Given the description of an element on the screen output the (x, y) to click on. 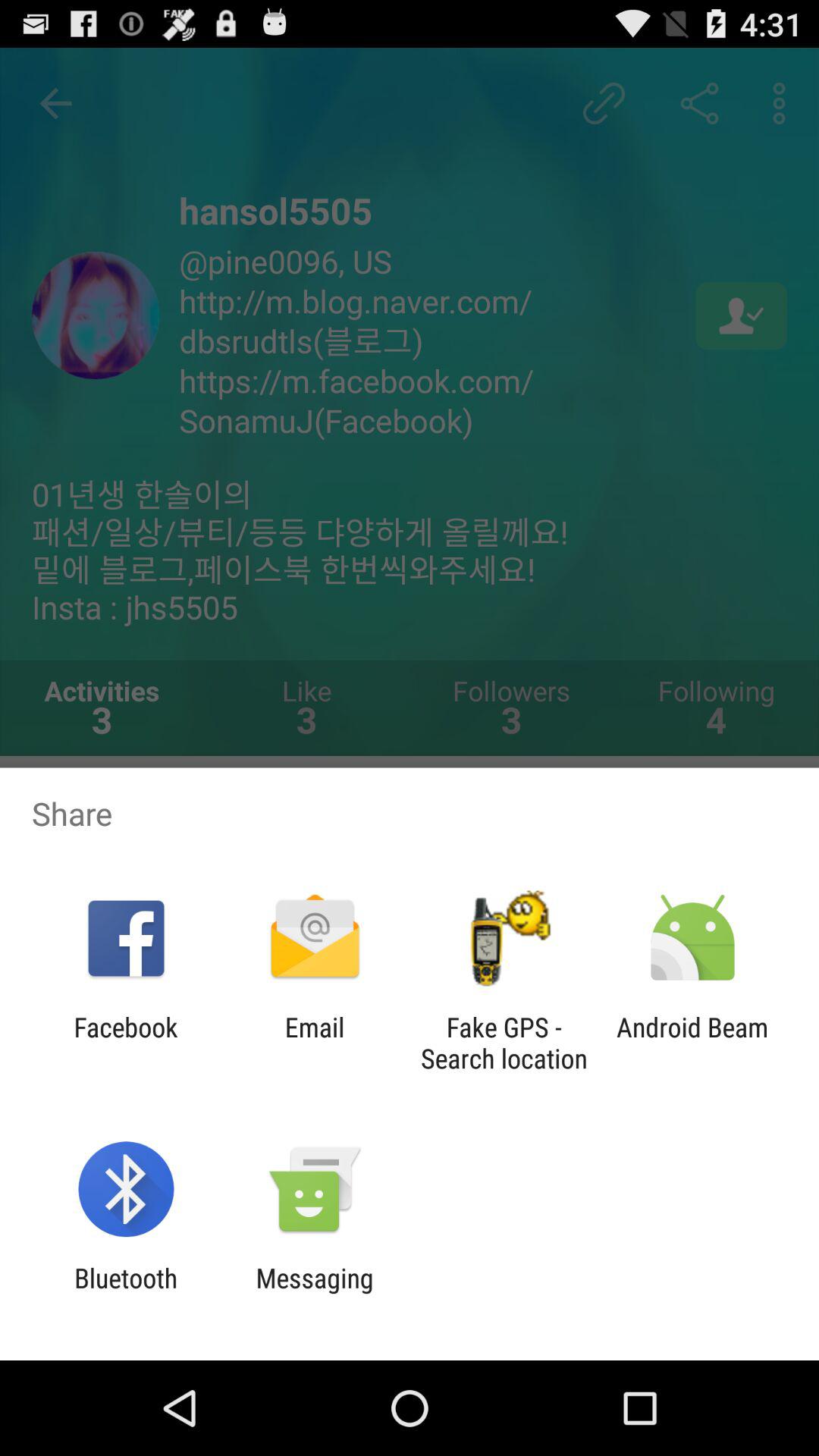
choose email app (314, 1042)
